Given the description of an element on the screen output the (x, y) to click on. 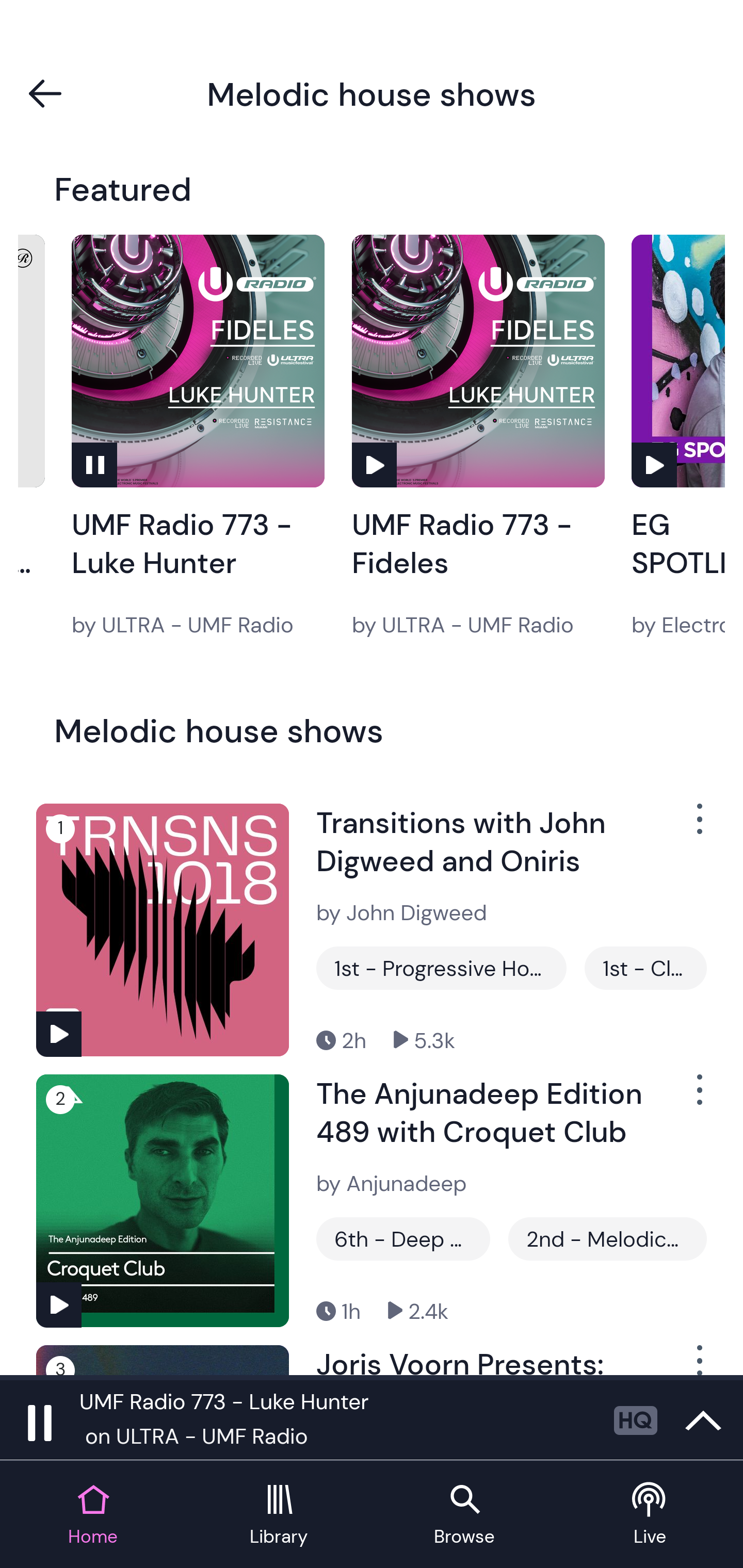
Show Options Menu Button (697, 825)
1st - Progressive House (441, 968)
1st - Club (645, 968)
Show Options Menu Button (697, 1097)
6th - Deep House (403, 1238)
2nd - Melodic House (607, 1238)
Show Options Menu Button (697, 1360)
Home tab Home (92, 1515)
Library tab Library (278, 1515)
Browse tab Browse (464, 1515)
Live tab Live (650, 1515)
